Given the description of an element on the screen output the (x, y) to click on. 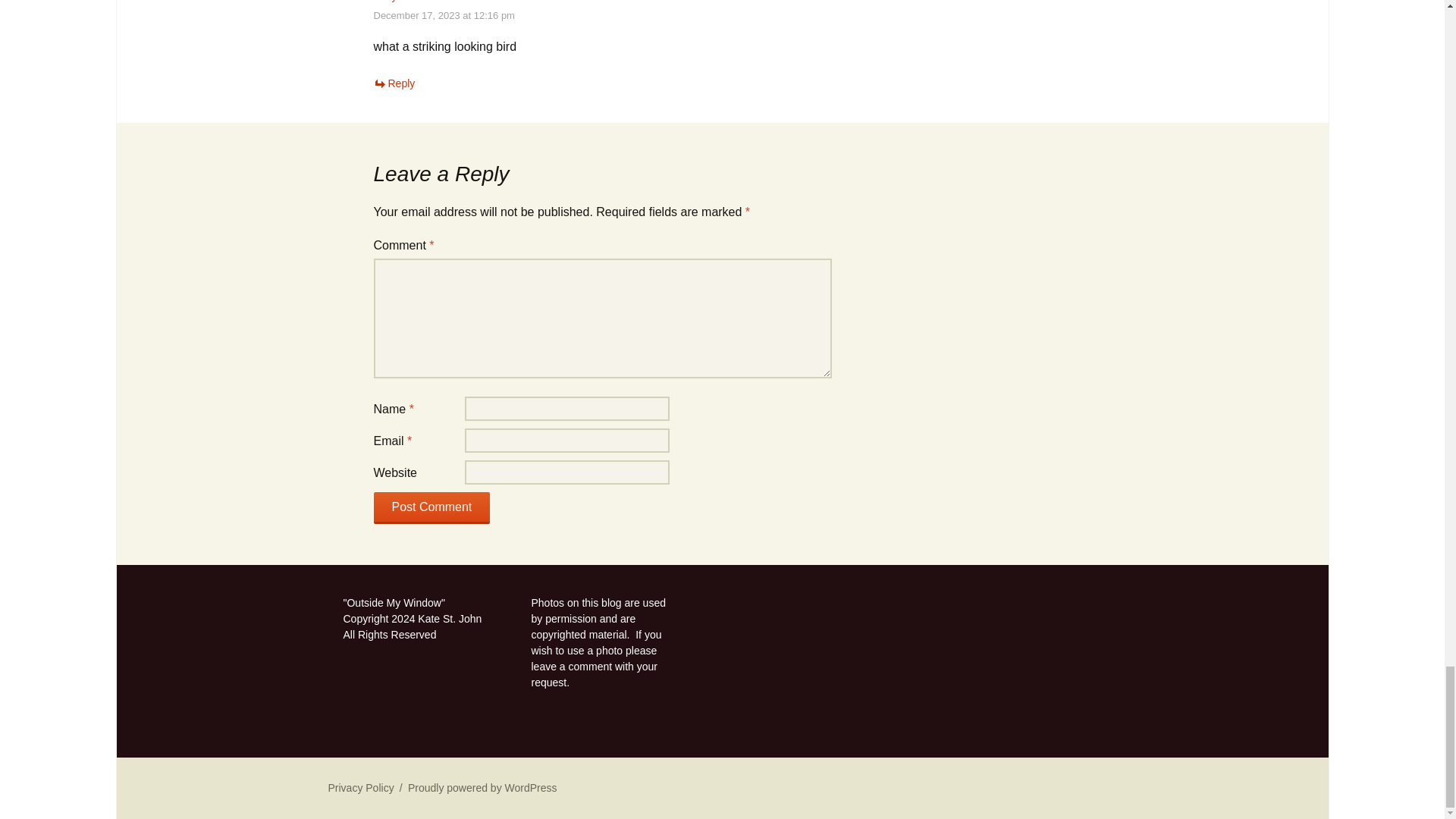
Reply (393, 82)
Post Comment (430, 508)
December 17, 2023 at 12:16 pm (442, 15)
Post Comment (430, 508)
